Given the description of an element on the screen output the (x, y) to click on. 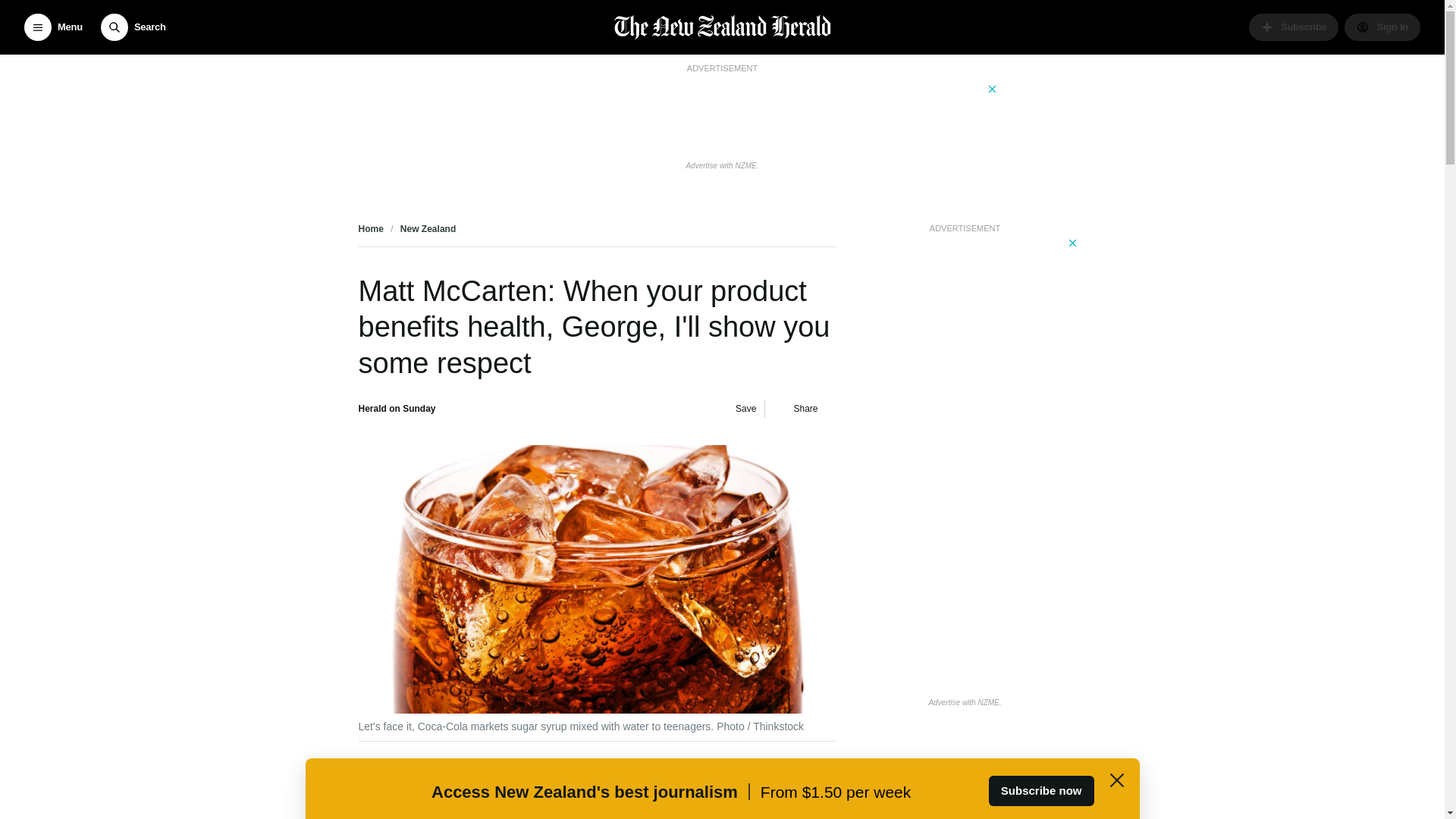
Menu (53, 26)
Search (132, 26)
Manage your account (1382, 26)
3rd party ad content (721, 115)
Sign In (1382, 26)
Subscribe (1294, 26)
